Given the description of an element on the screen output the (x, y) to click on. 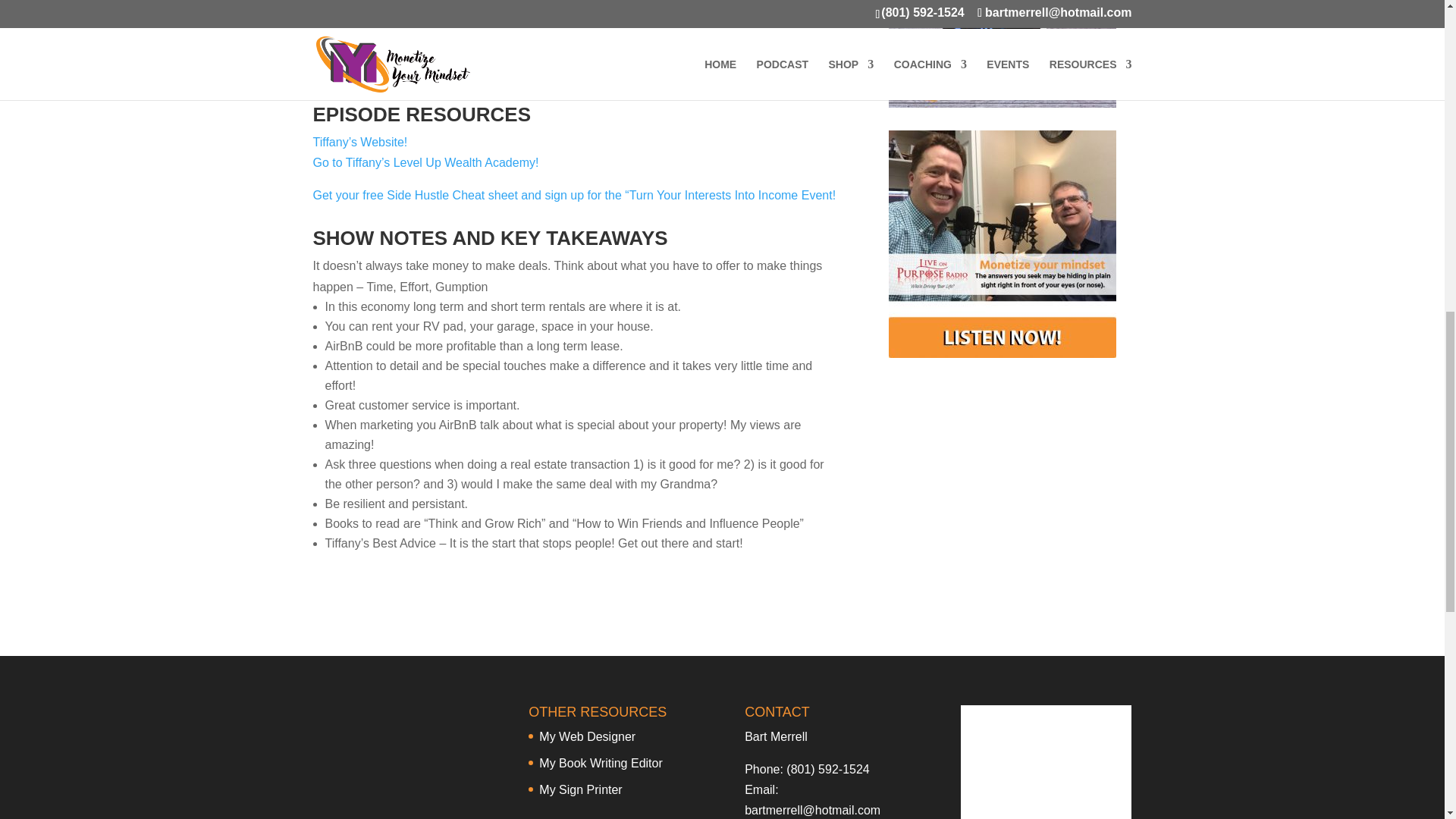
iHeart (467, 71)
Stitcher (420, 71)
Spotify (371, 71)
Apple (328, 71)
